Given the description of an element on the screen output the (x, y) to click on. 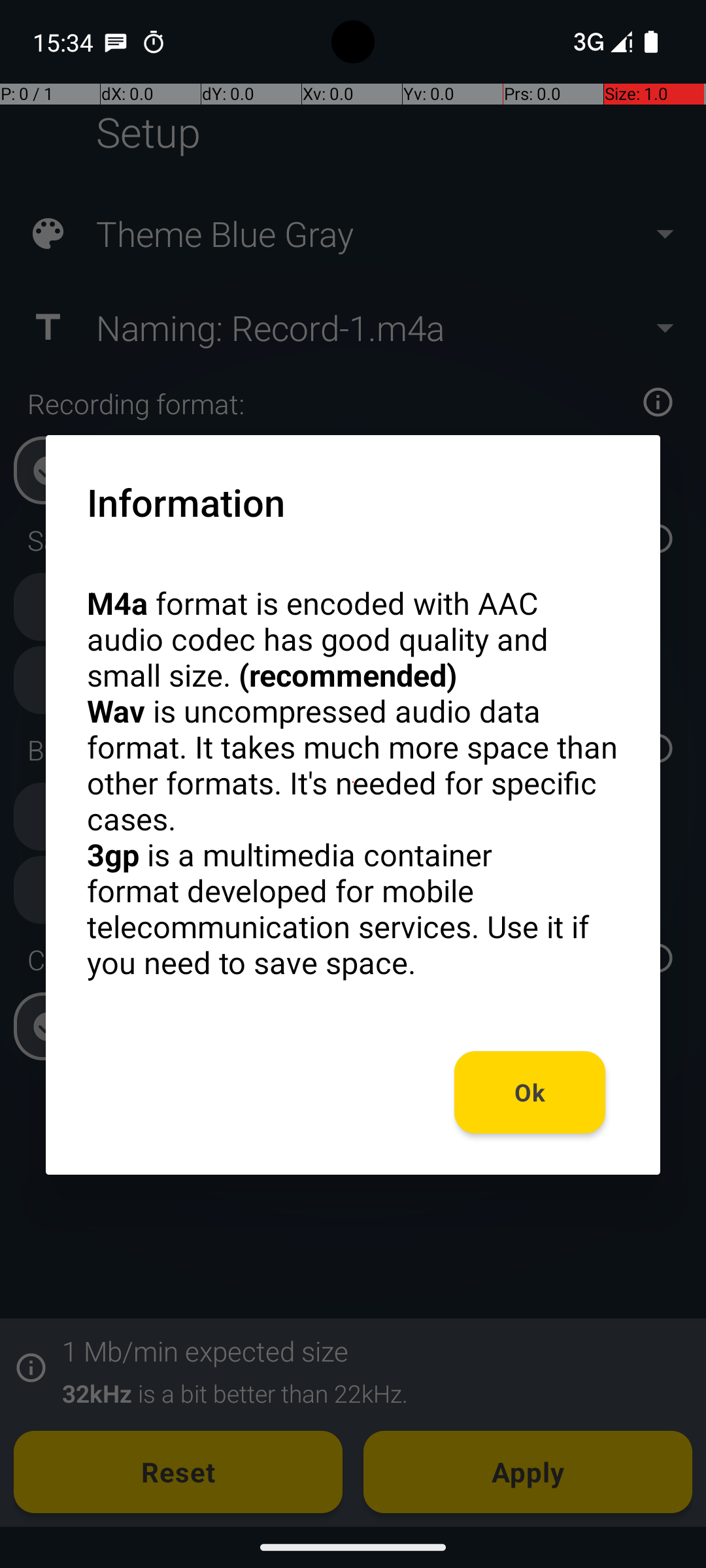
M4a format is encoded with AAC audio codec has good quality and small size. (recommended) 
Wav is uncompressed audio data format. It takes much more space than other formats. It's needed for specific cases. 
3gp is a multimedia container format developed for mobile telecommunication services. Use it if you need to save space.  Element type: android.widget.TextView (352, 782)
